Given the description of an element on the screen output the (x, y) to click on. 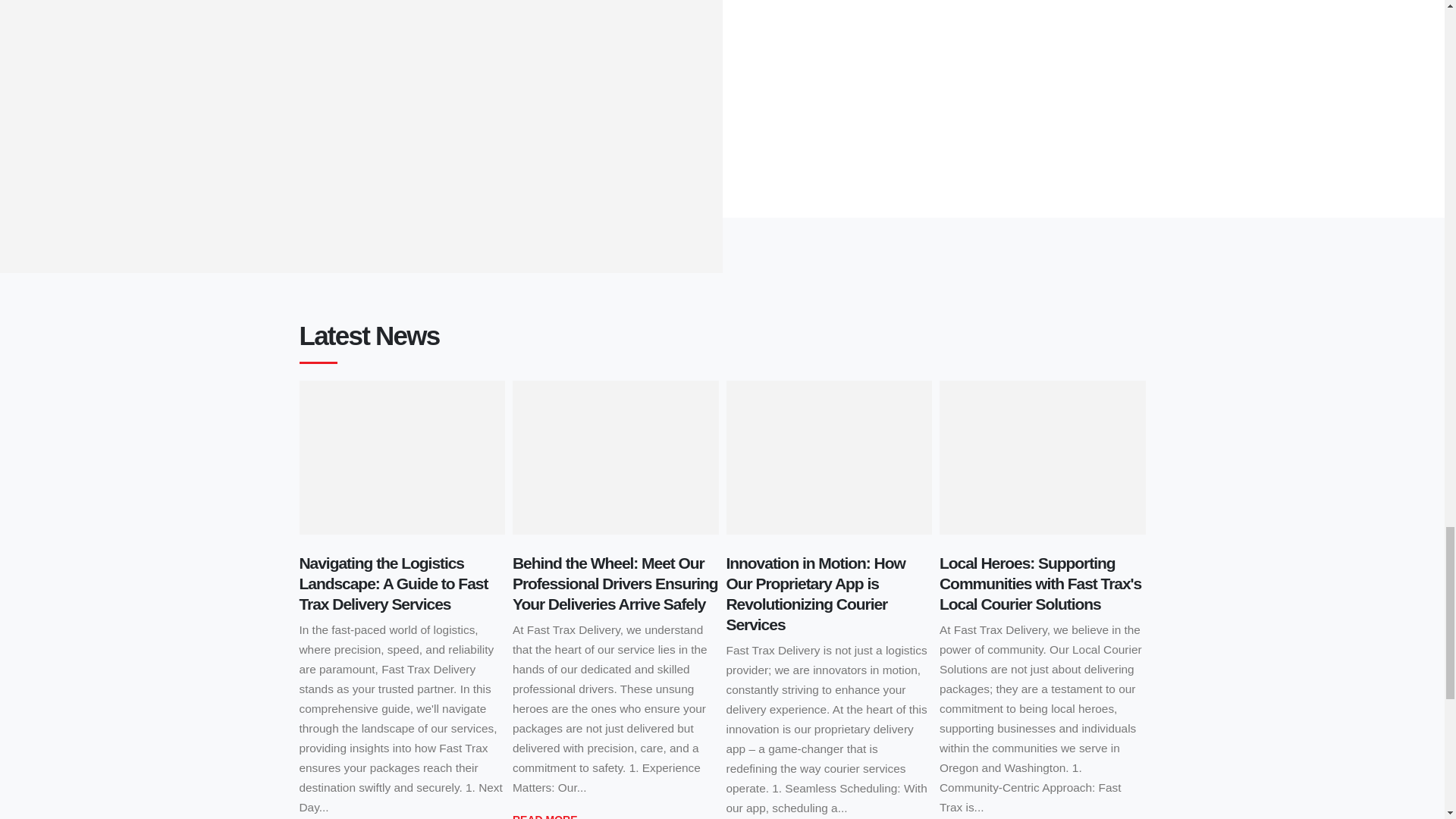
READ MORE (545, 814)
